Given the description of an element on the screen output the (x, y) to click on. 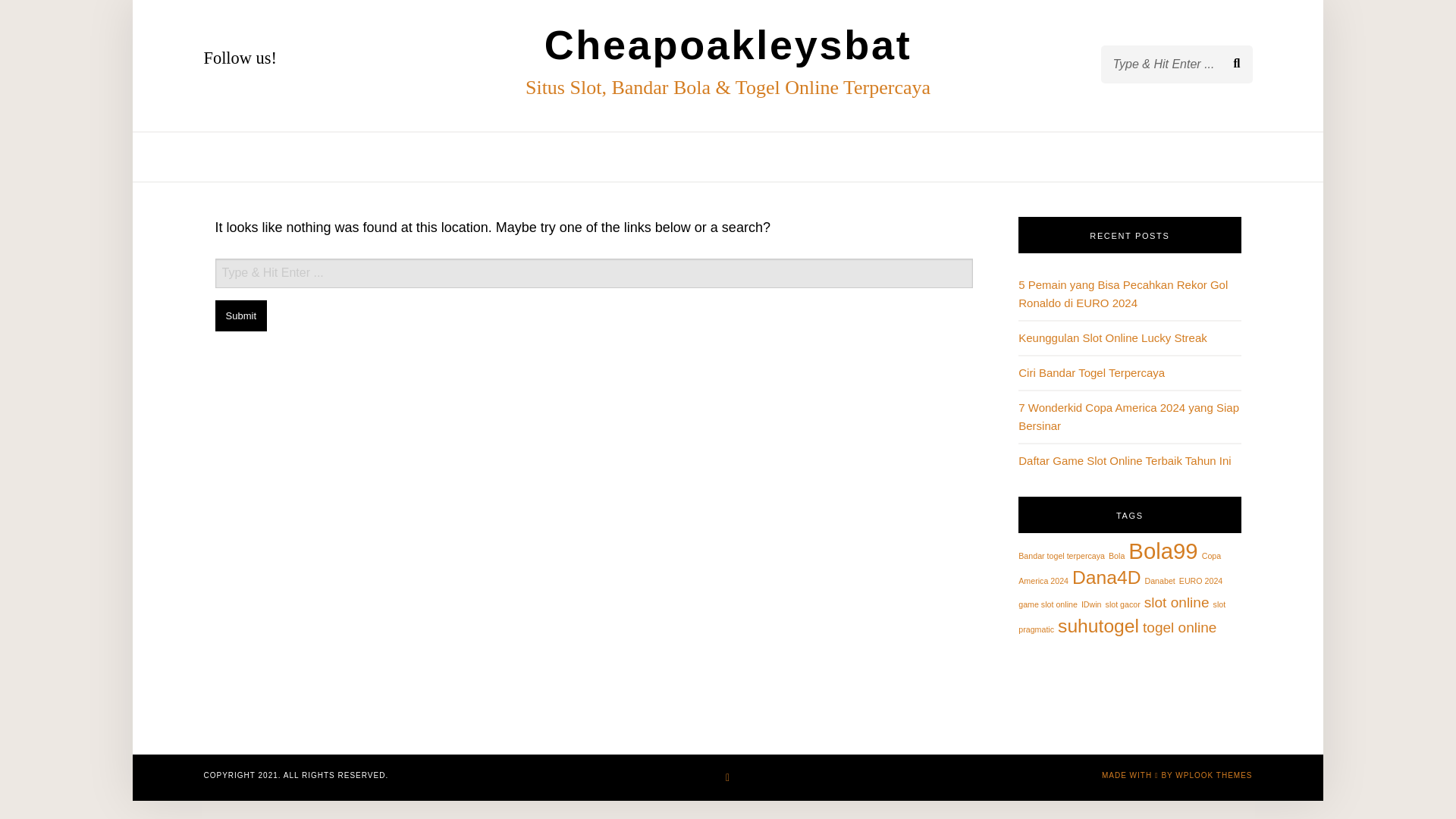
Danabet (1159, 580)
Ciri Bandar Togel Terpercaya (1090, 372)
Submit (241, 315)
SLOT ONLINE (756, 156)
IDwin (1091, 604)
Submit (241, 315)
7 Wonderkid Copa America 2024 yang Siap Bersinar (1128, 416)
Dana4D (1105, 577)
HOME (559, 156)
Daftar Game Slot Online Terbaik Tahun Ini (1123, 460)
Submit (64, 23)
Copa America 2024 (1119, 568)
5 Pemain yang Bisa Pecahkan Rekor Gol Ronaldo di EURO 2024 (1122, 293)
game slot online (1047, 604)
Bola99 (1162, 550)
